Given the description of an element on the screen output the (x, y) to click on. 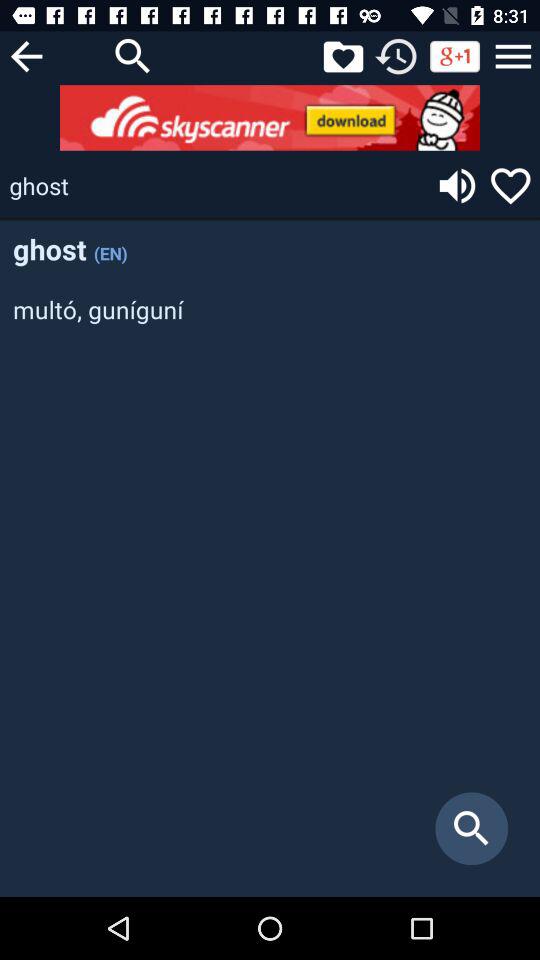
download sky scanner app (270, 117)
